Given the description of an element on the screen output the (x, y) to click on. 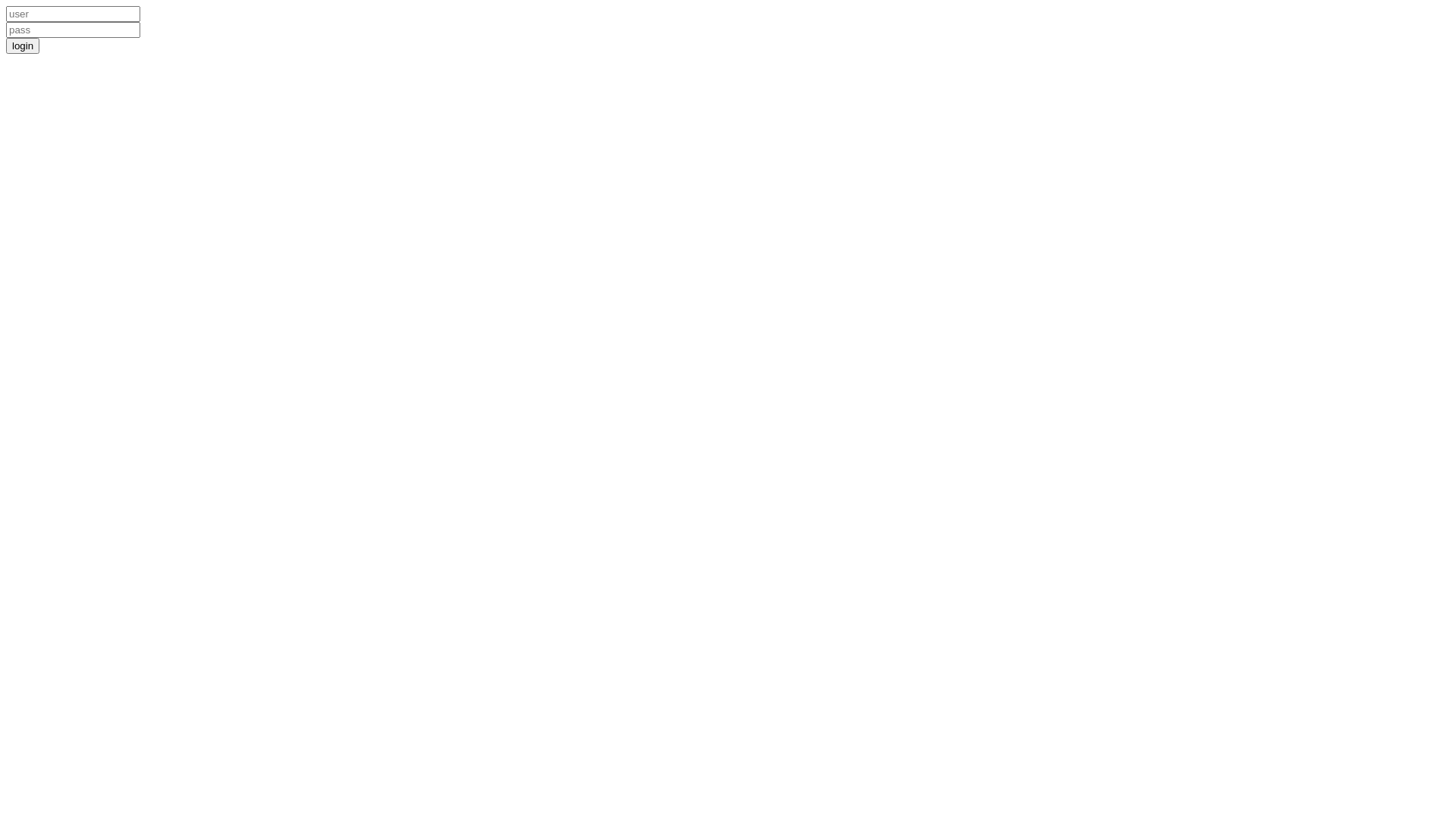
login Element type: text (22, 45)
